Given the description of an element on the screen output the (x, y) to click on. 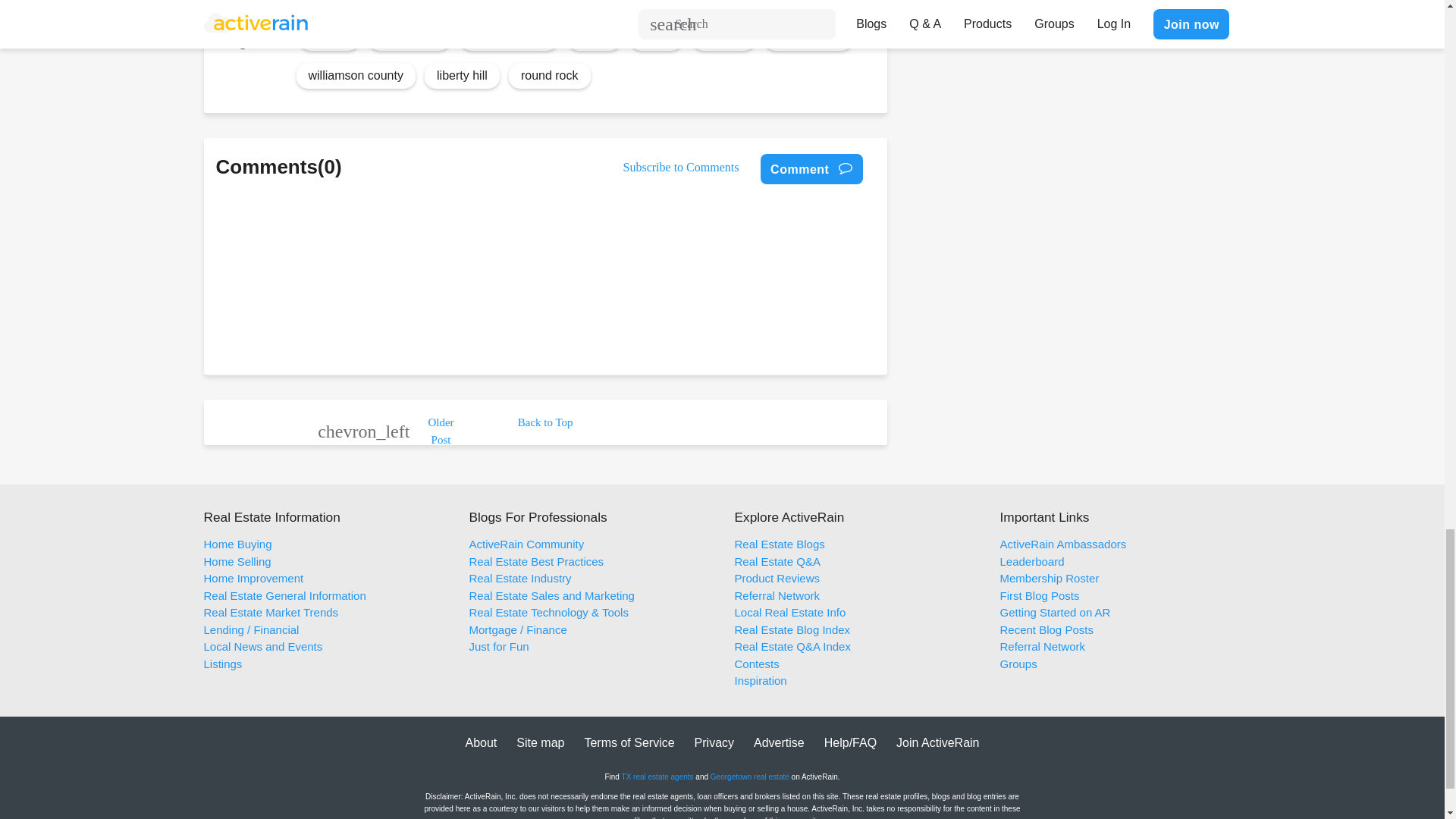
internet buyer (509, 36)
pricing (329, 36)
compelling (409, 36)
